Given the description of an element on the screen output the (x, y) to click on. 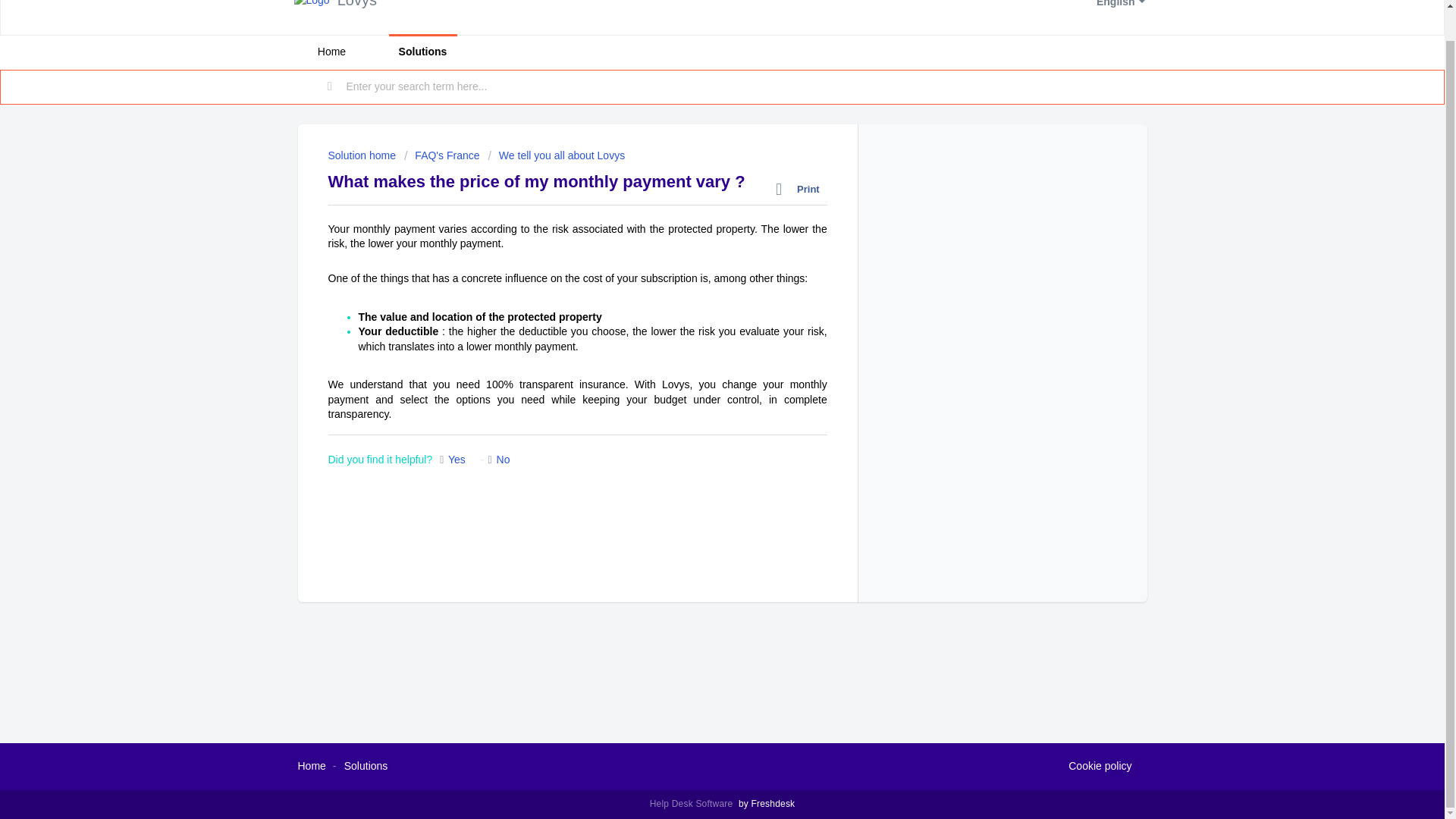
Home (331, 51)
Help Desk Software (693, 803)
Home (310, 766)
FAQ's France (442, 155)
Solutions (365, 766)
Solution home (362, 155)
Print this Article (801, 189)
Why we love Cookies (1099, 766)
We tell you all about Lovys (555, 155)
Cookie policy (1099, 766)
Solutions (422, 51)
Print (801, 189)
